Given the description of an element on the screen output the (x, y) to click on. 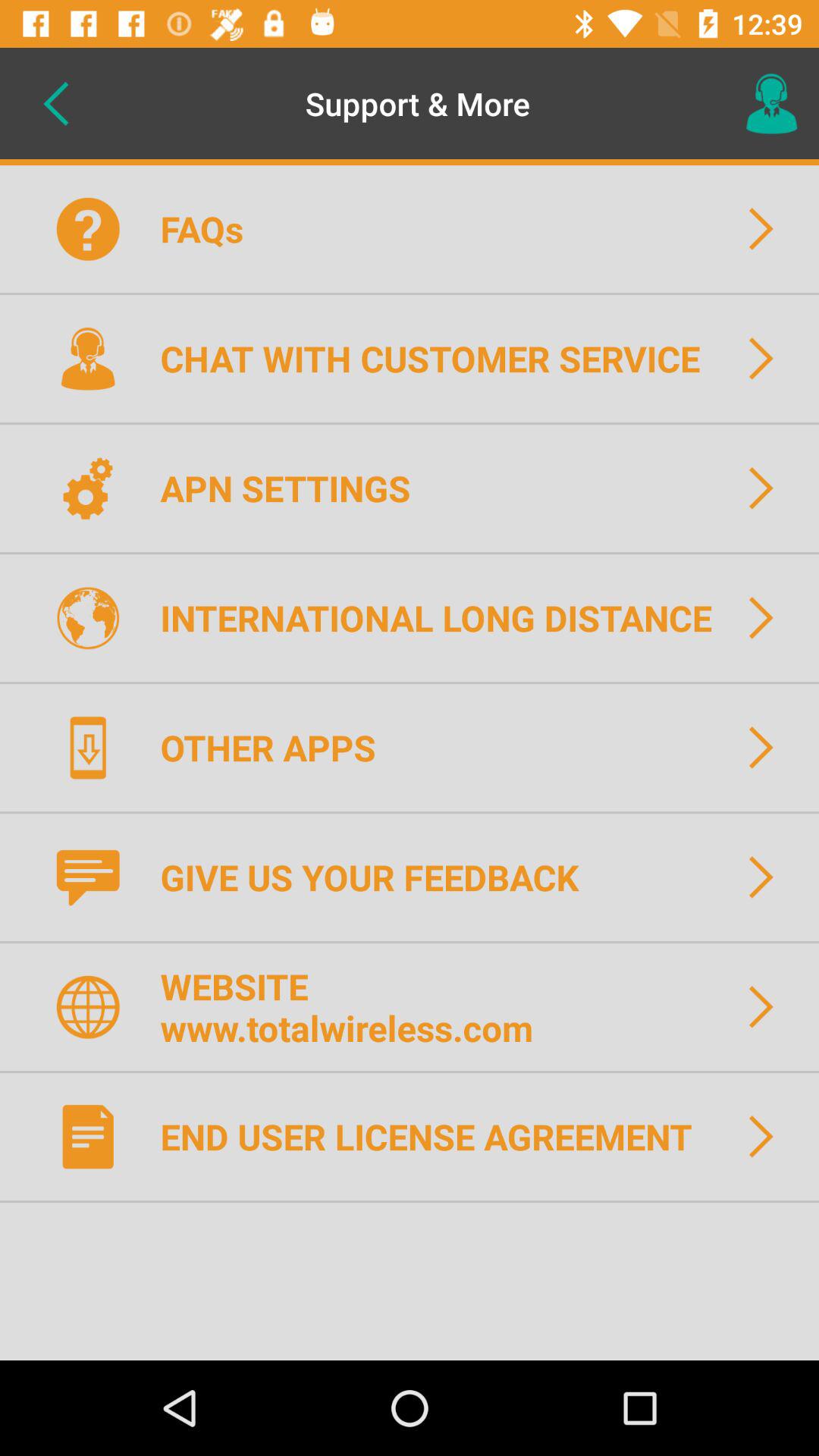
tap the apn settings icon (295, 488)
